Given the description of an element on the screen output the (x, y) to click on. 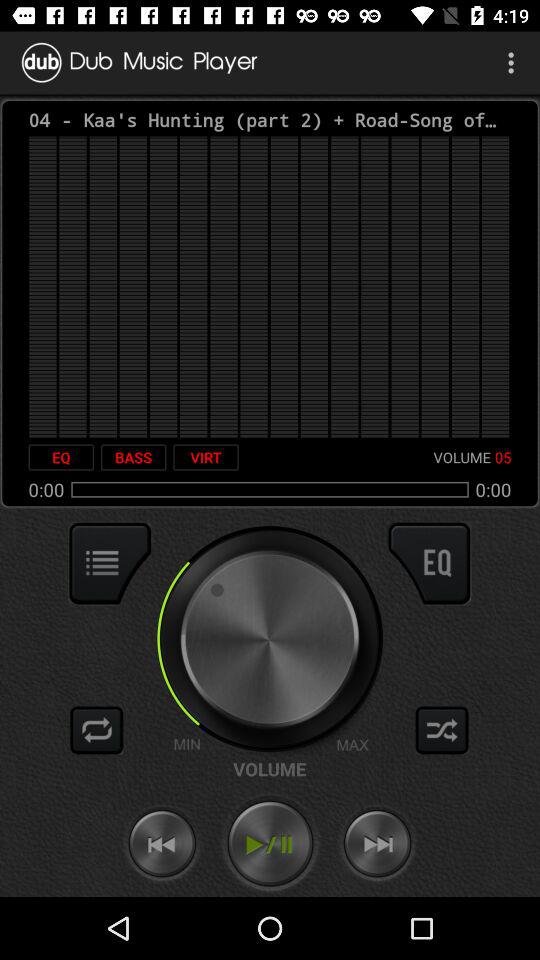
launch the icon to the left of the volume item (205, 457)
